Given the description of an element on the screen output the (x, y) to click on. 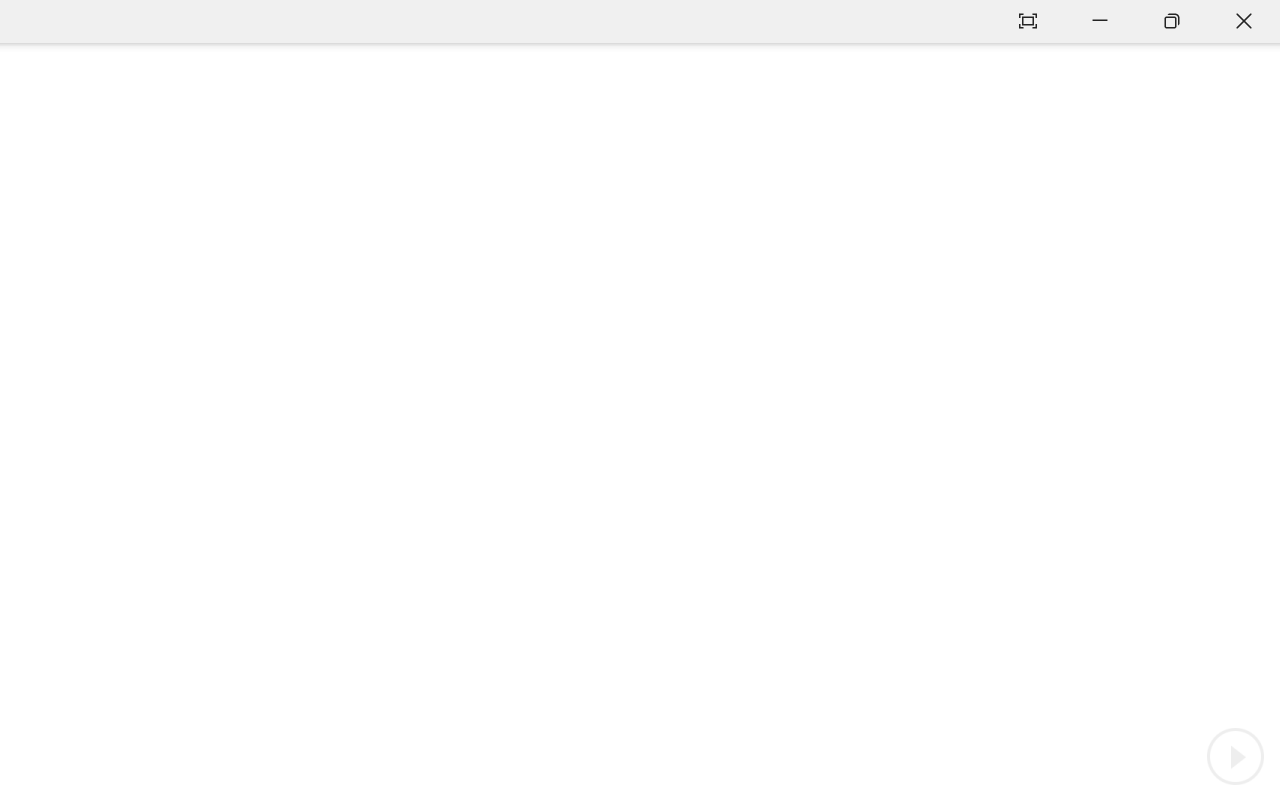
Auto-hide Reading Toolbar (1027, 21)
